Given the description of an element on the screen output the (x, y) to click on. 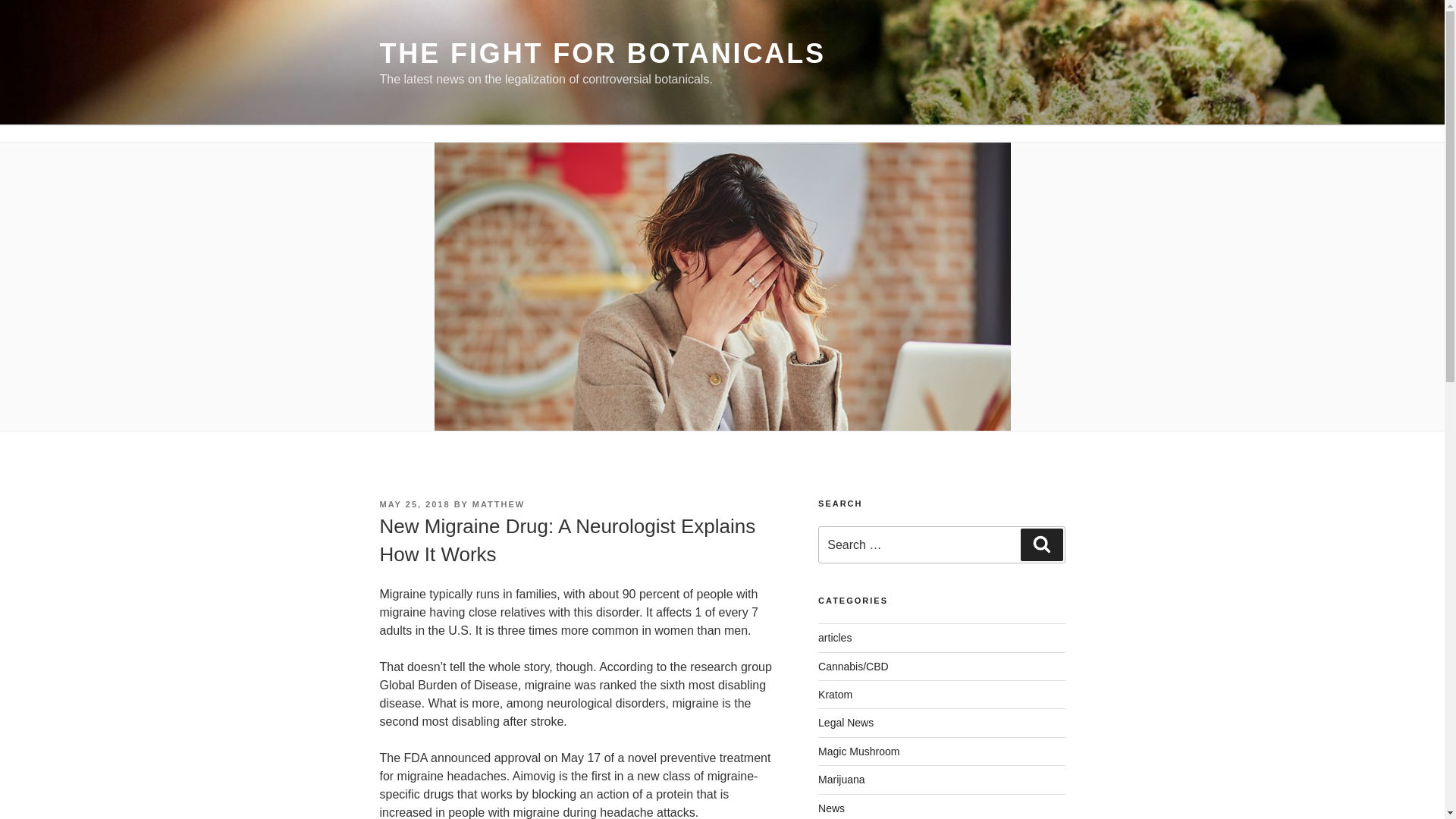
THE FIGHT FOR BOTANICALS (601, 52)
Legal News (845, 722)
MAY 25, 2018 (413, 503)
News (831, 808)
Kratom (834, 694)
Magic Mushroom (858, 751)
Search (1041, 544)
articles (834, 637)
MATTHEW (497, 503)
Marijuana (841, 779)
